Given the description of an element on the screen output the (x, y) to click on. 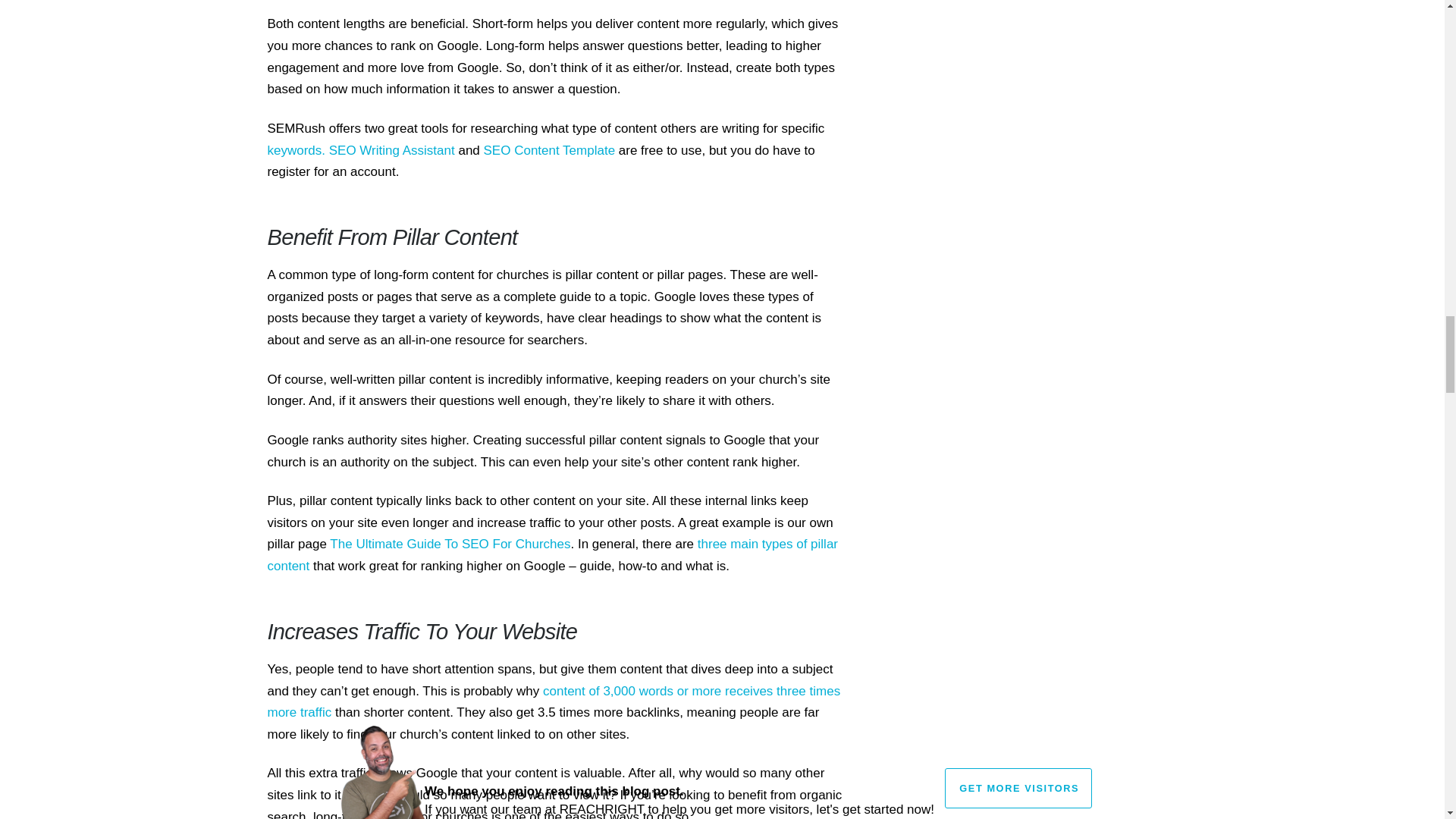
keywords. SEO Writing Assistant (360, 150)
three main types of pillar content (552, 555)
The Ultimate Guide To SEO For Churches (450, 544)
SEO Content Template (549, 150)
